Given the description of an element on the screen output the (x, y) to click on. 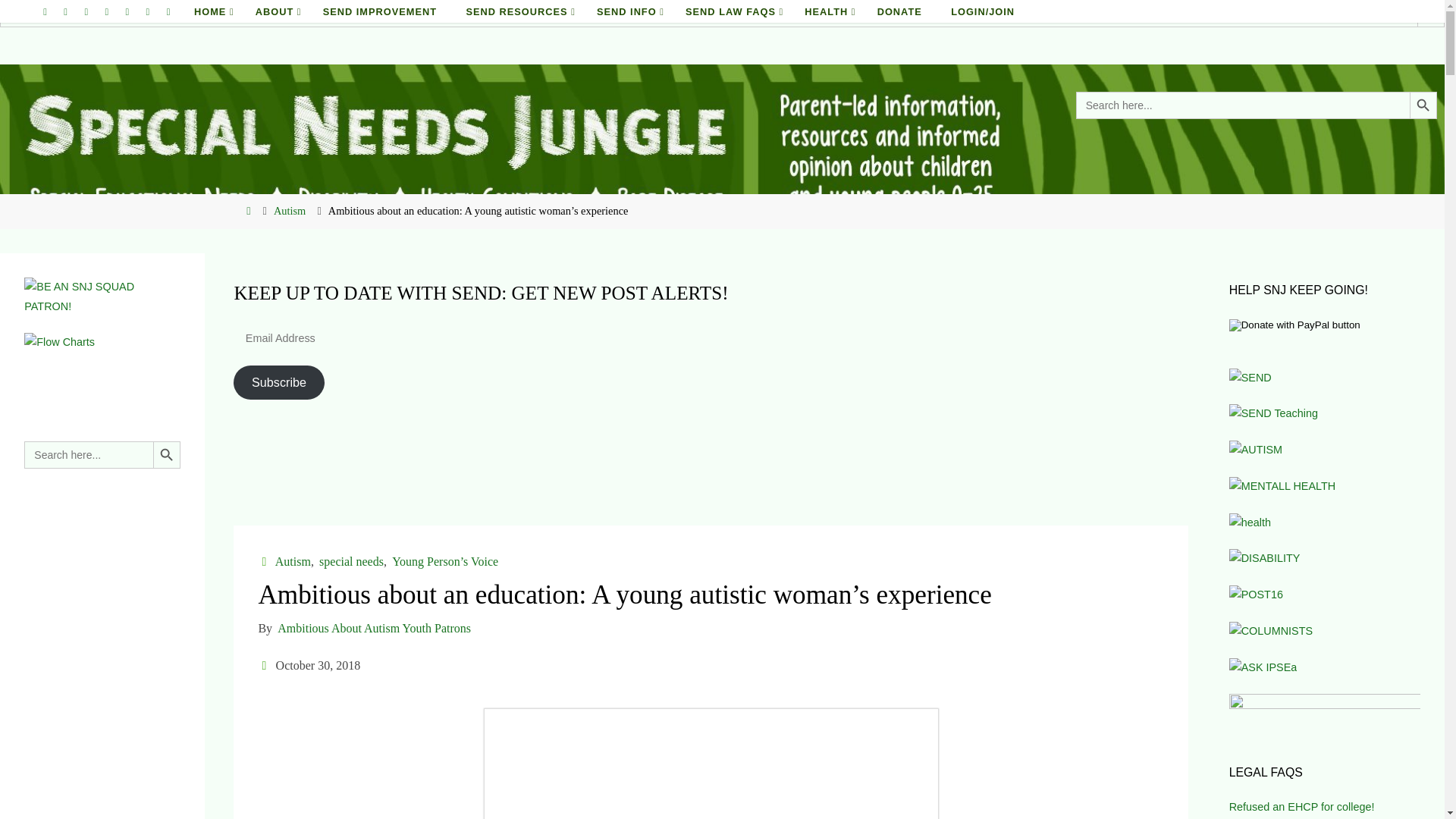
Categories (264, 561)
SPECIAL NEEDS JUNGLE (65, 51)
Date (264, 665)
View all posts by Ambitious About Autism Youth Patrons (372, 627)
